Given the description of an element on the screen output the (x, y) to click on. 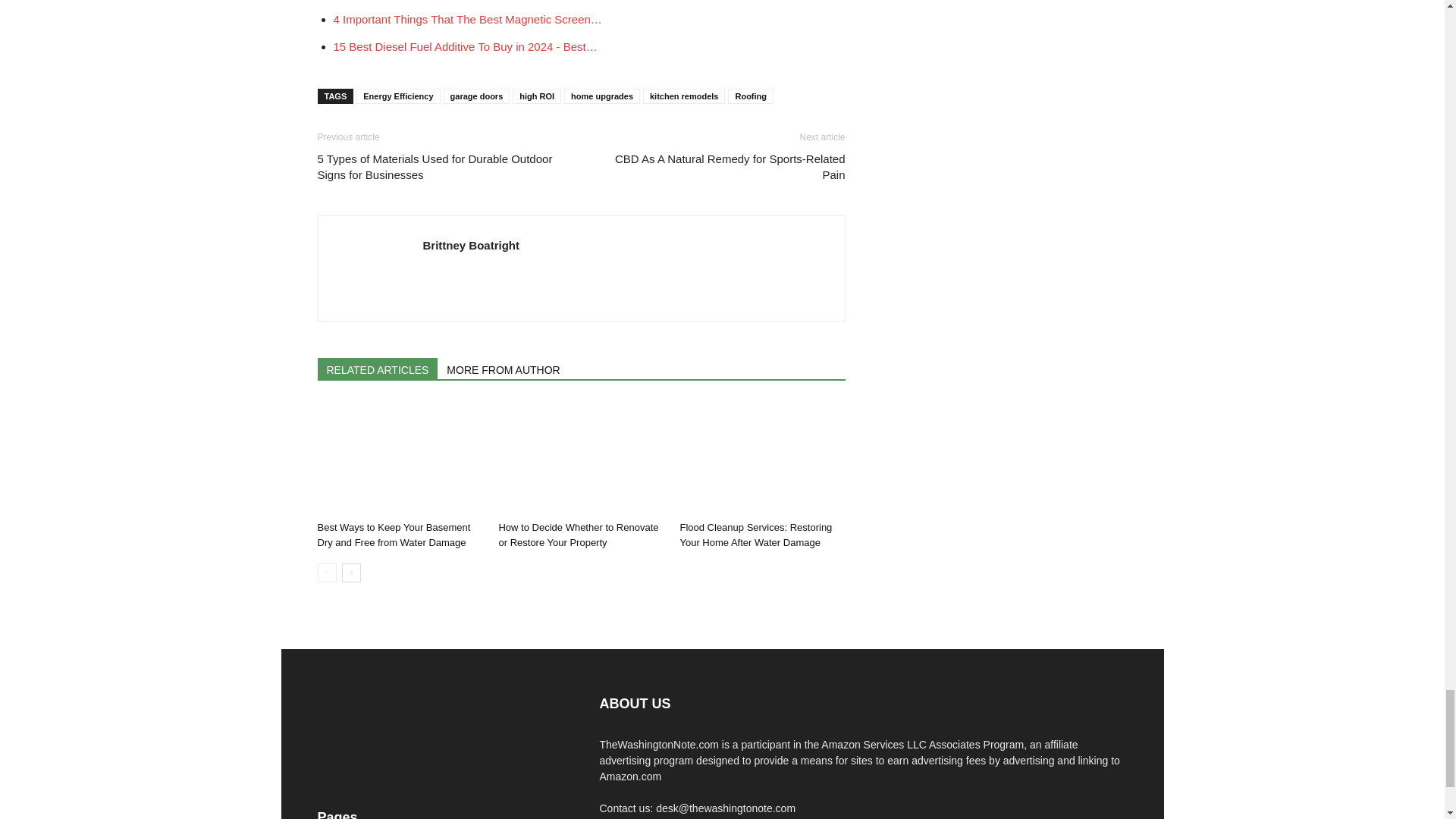
How to Decide Whether to Renovate or Restore Your Property (577, 534)
How to Decide Whether to Renovate or Restore Your Property (580, 458)
